Given the description of an element on the screen output the (x, y) to click on. 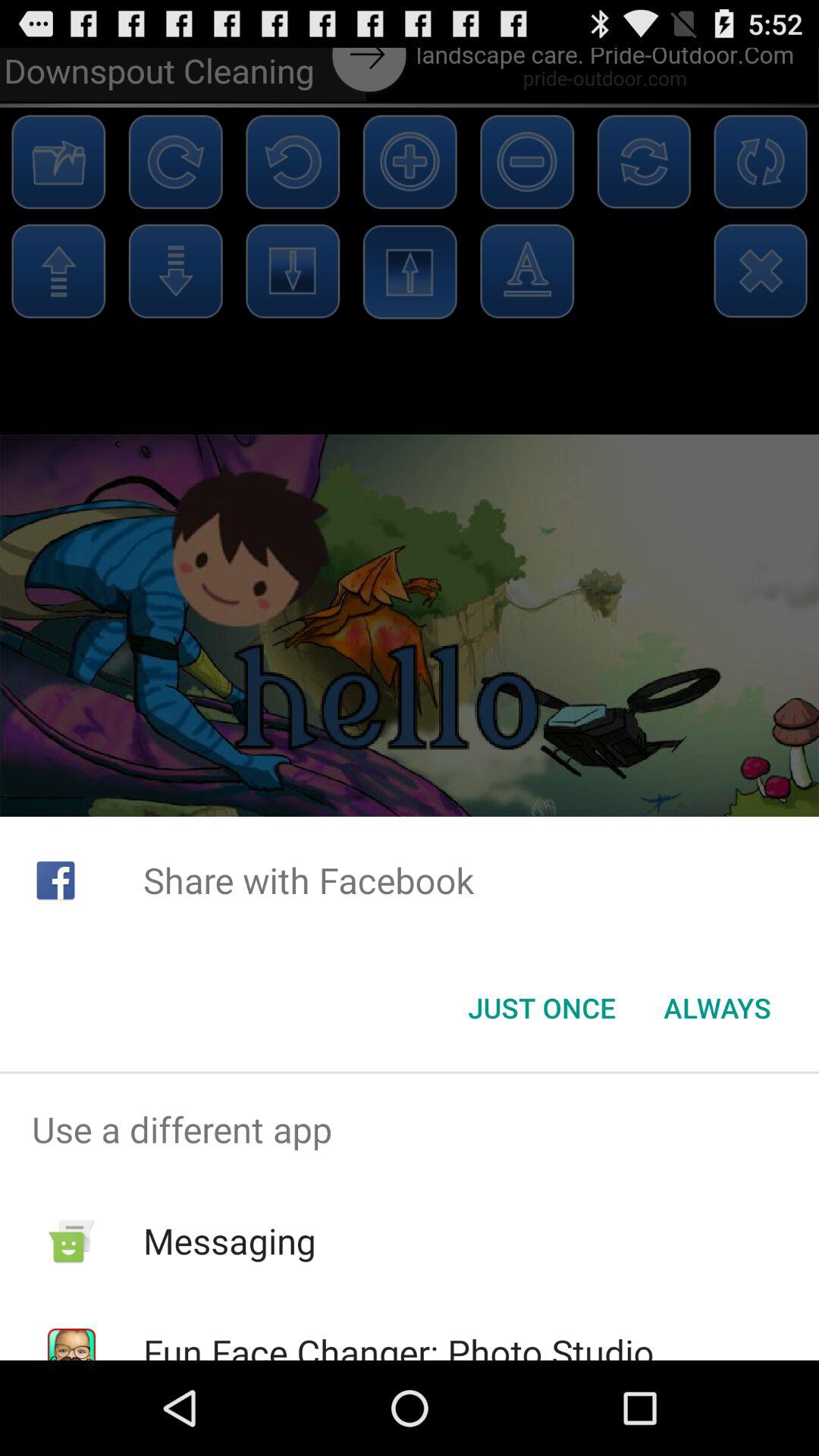
turn on messaging (229, 1240)
